Given the description of an element on the screen output the (x, y) to click on. 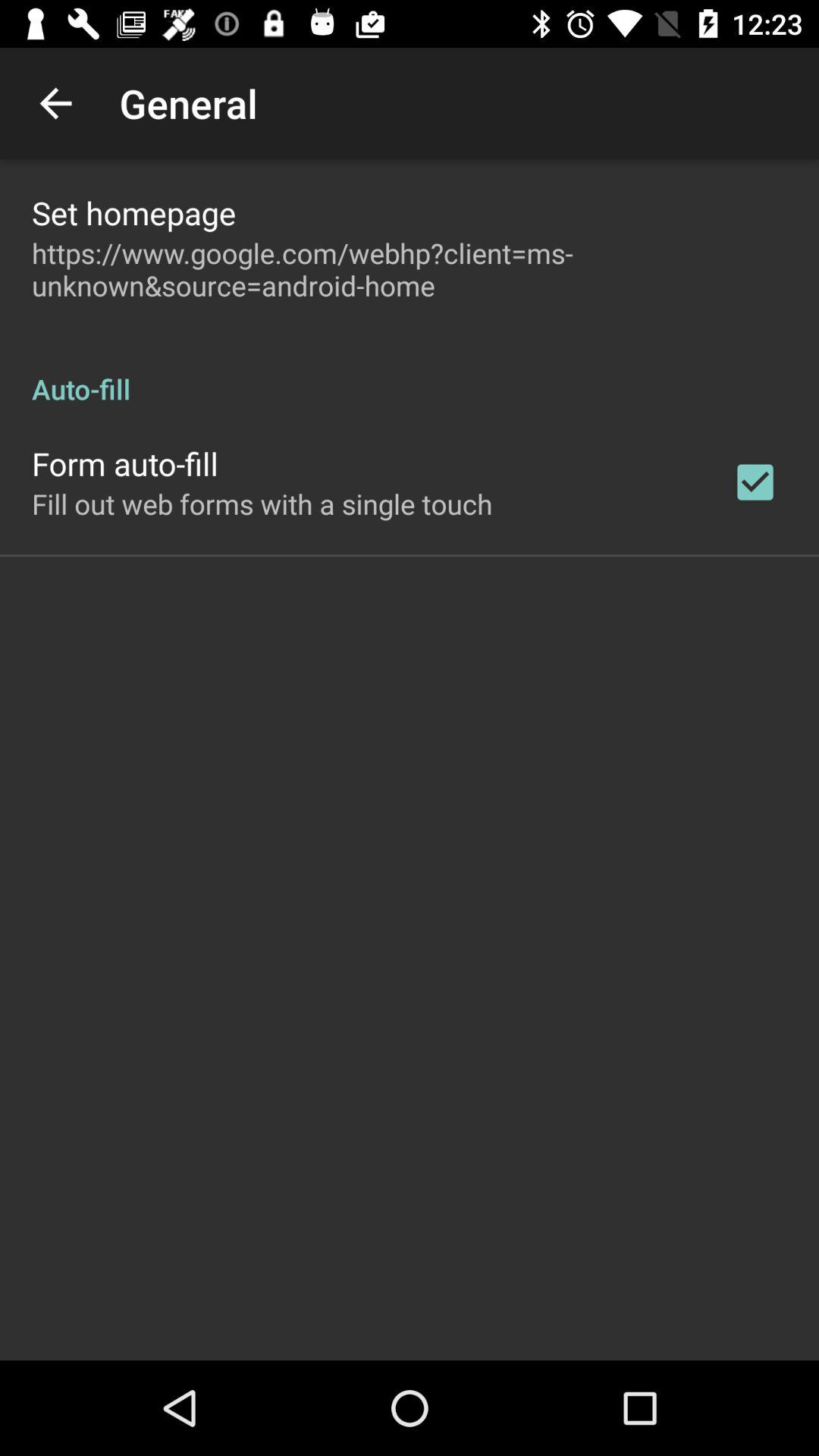
launch app next to the fill out web item (755, 482)
